Given the description of an element on the screen output the (x, y) to click on. 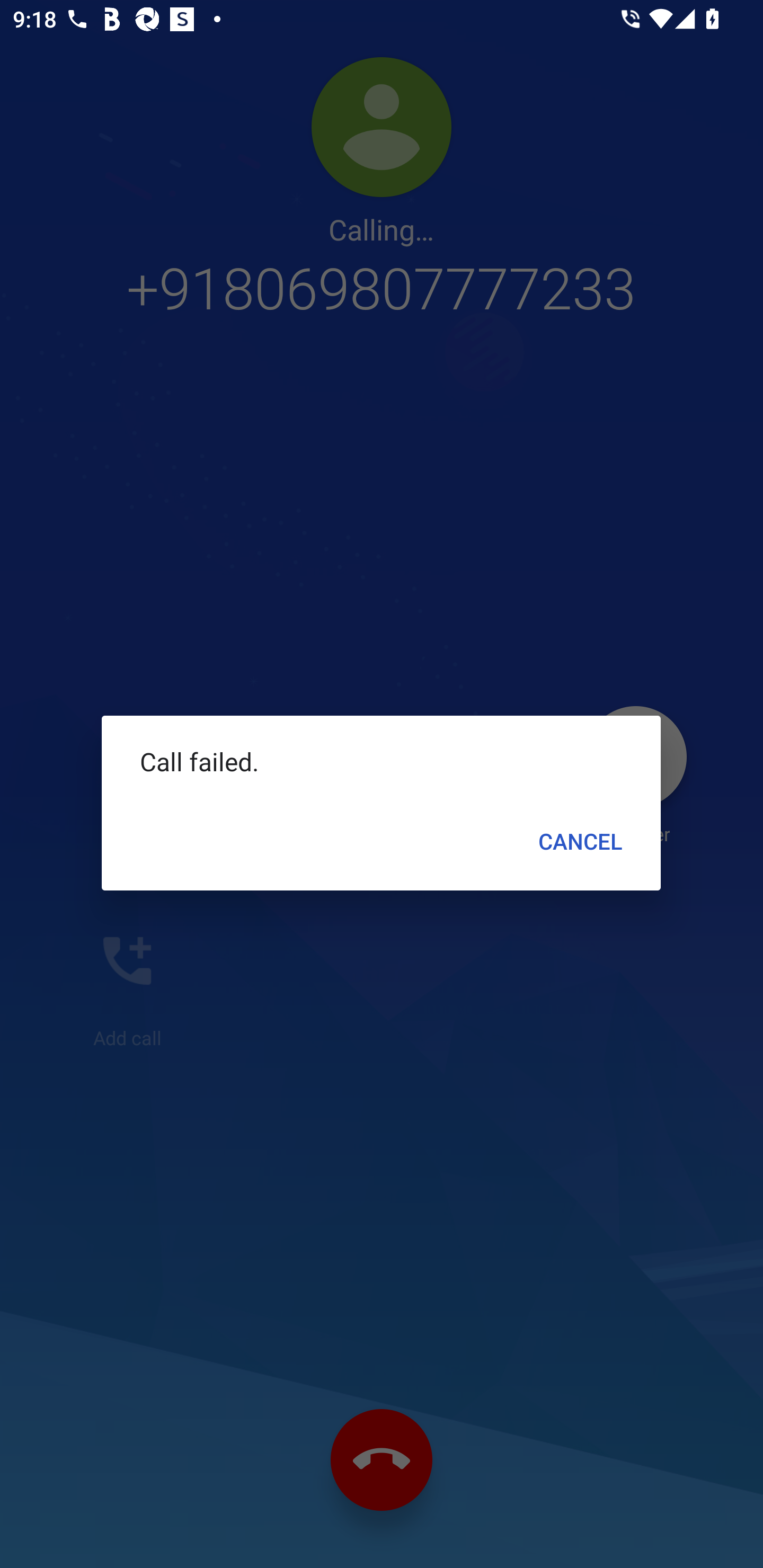
CANCEL (580, 841)
